Given the description of an element on the screen output the (x, y) to click on. 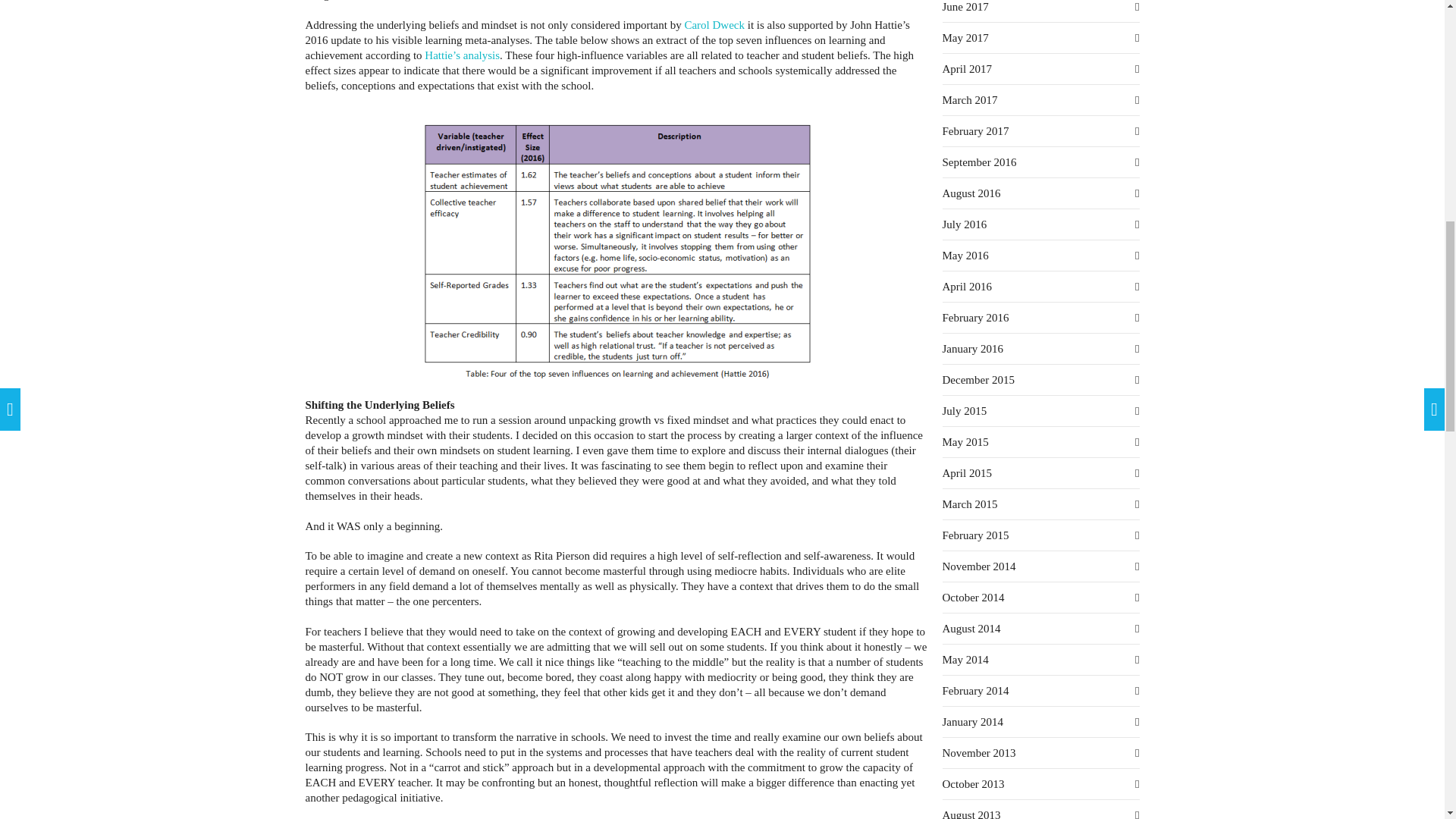
Carol Dweck (714, 24)
